Given the description of an element on the screen output the (x, y) to click on. 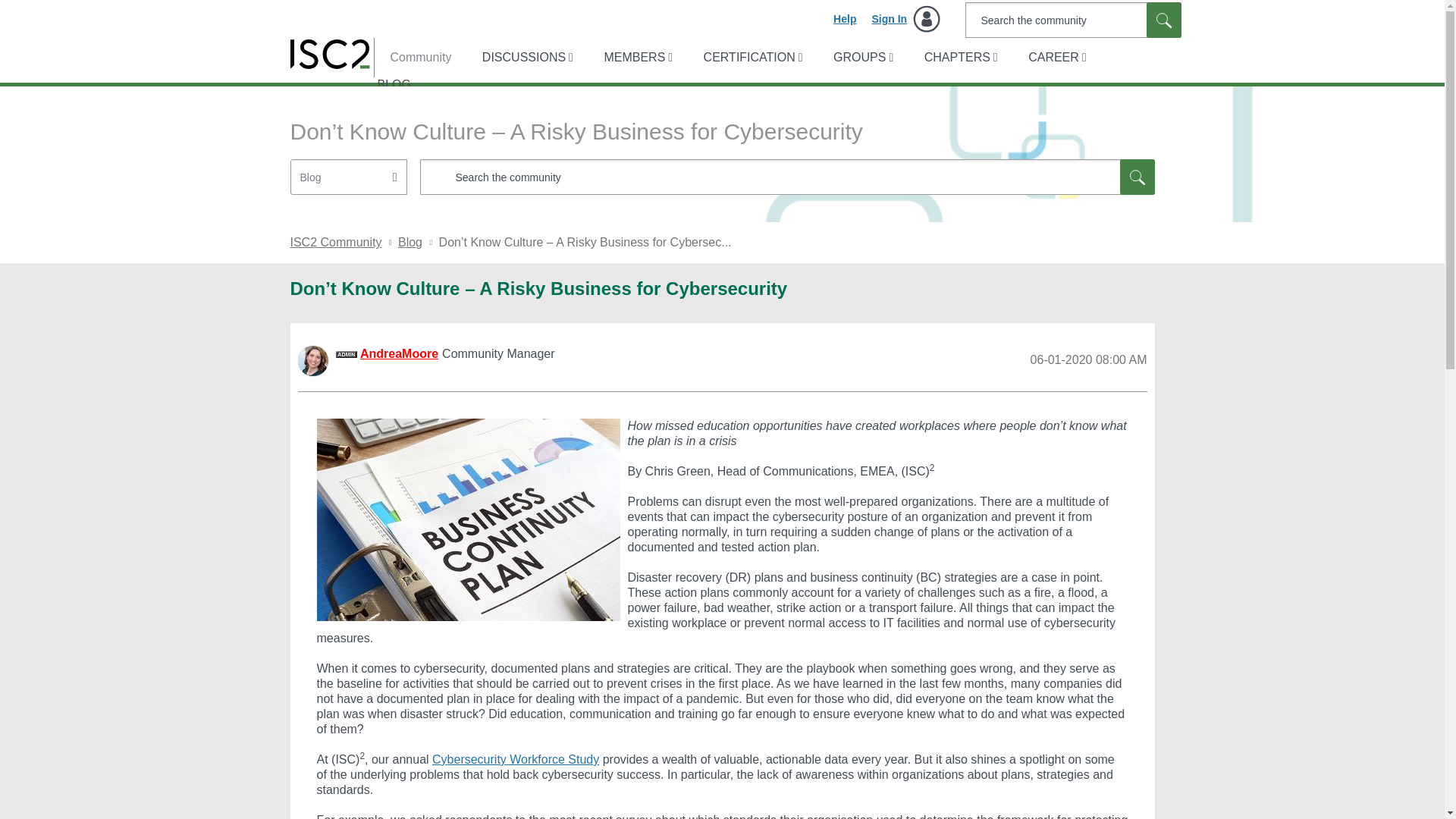
Search Granularity (348, 176)
DISCUSSIONS (526, 57)
Search (1071, 19)
CERTIFICATION (751, 57)
Sign In (906, 18)
MEMBERS (635, 57)
Search (1163, 19)
Help (844, 18)
Search (1163, 19)
Search (787, 176)
GROUPS (861, 57)
Search (1163, 19)
Search (1136, 176)
Community (412, 57)
CHAPTERS (959, 57)
